Given the description of an element on the screen output the (x, y) to click on. 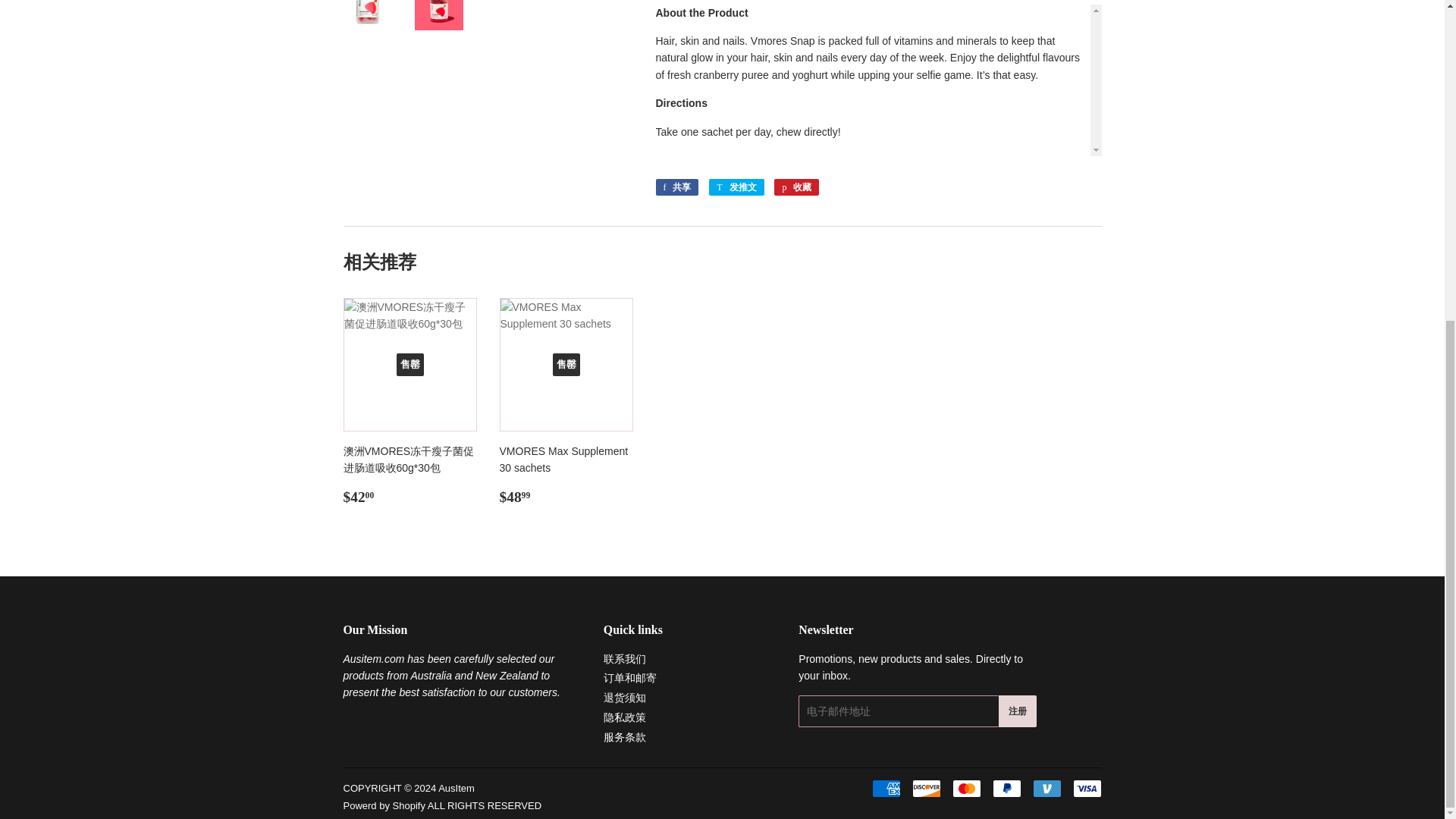
Discover (925, 788)
Mastercard (966, 788)
Visa (1085, 788)
American Express (886, 788)
PayPal (1005, 788)
Venmo (1046, 788)
